Given the description of an element on the screen output the (x, y) to click on. 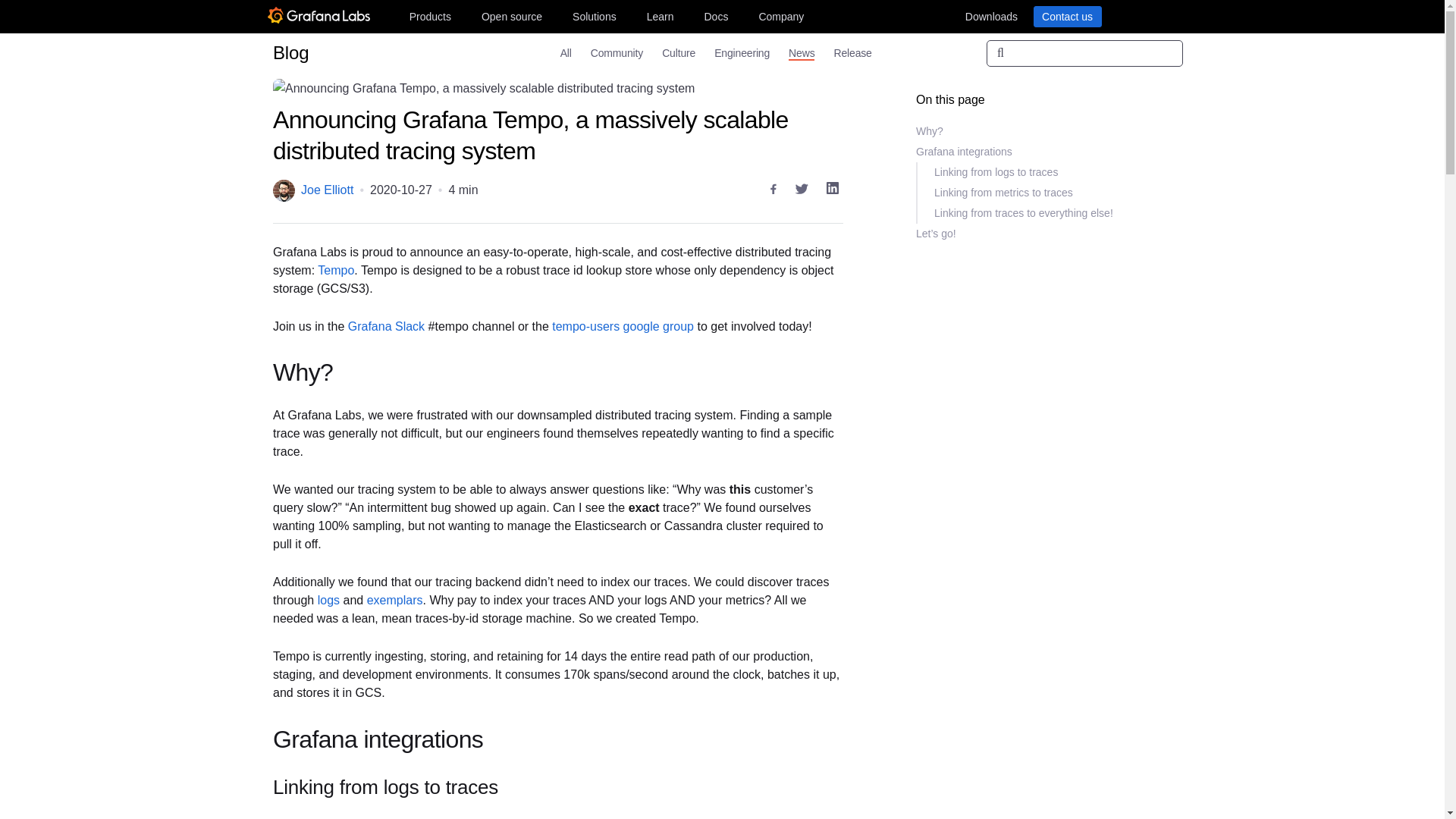
Solutions (594, 16)
Docs (715, 16)
Open source (512, 16)
Contact us (1066, 16)
Products (429, 16)
Learn (660, 16)
Company (780, 16)
Downloads (990, 16)
